Given the description of an element on the screen output the (x, y) to click on. 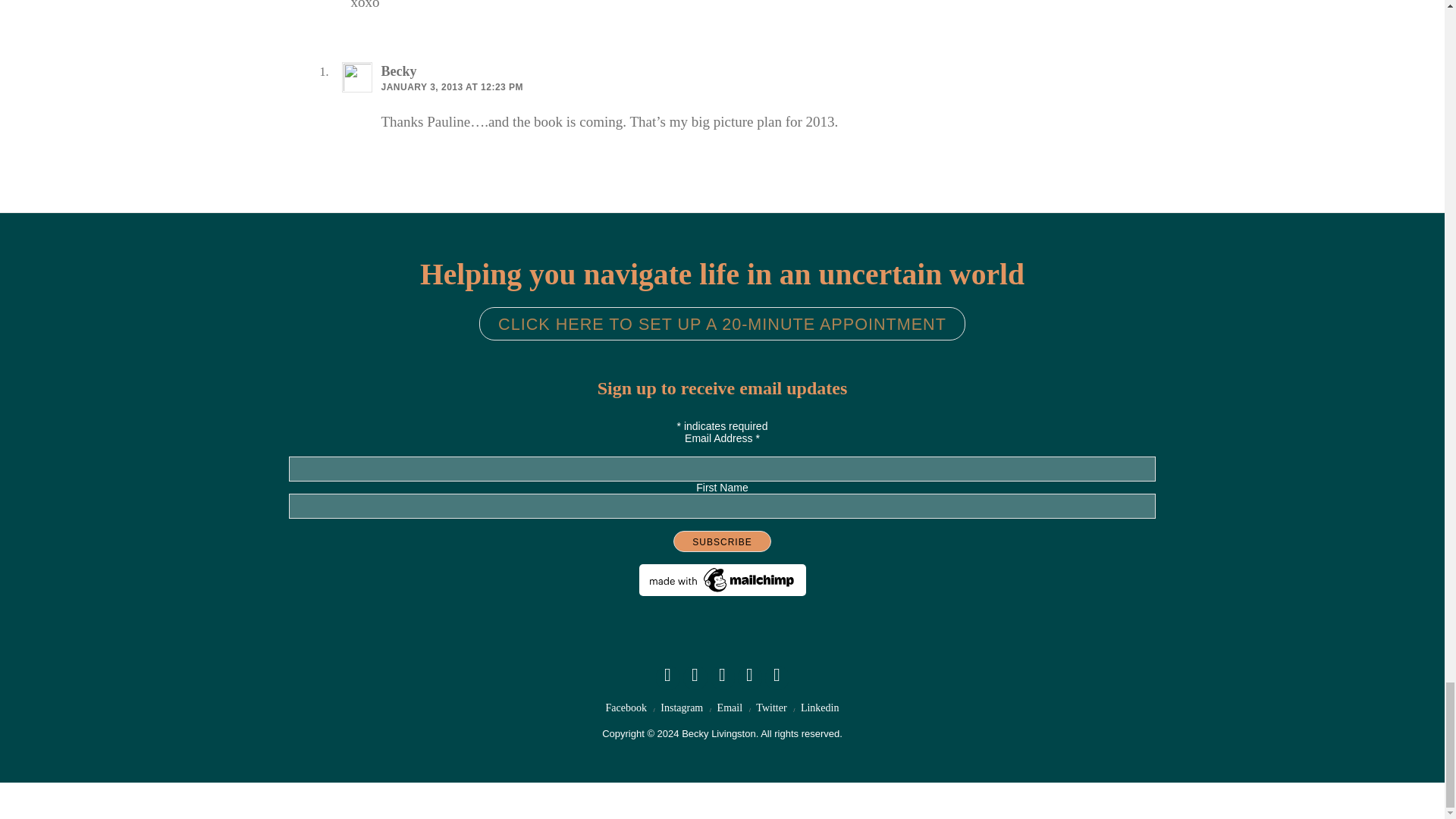
Mailchimp - email marketing made easy and fun (722, 592)
Subscribe (721, 541)
